Given the description of an element on the screen output the (x, y) to click on. 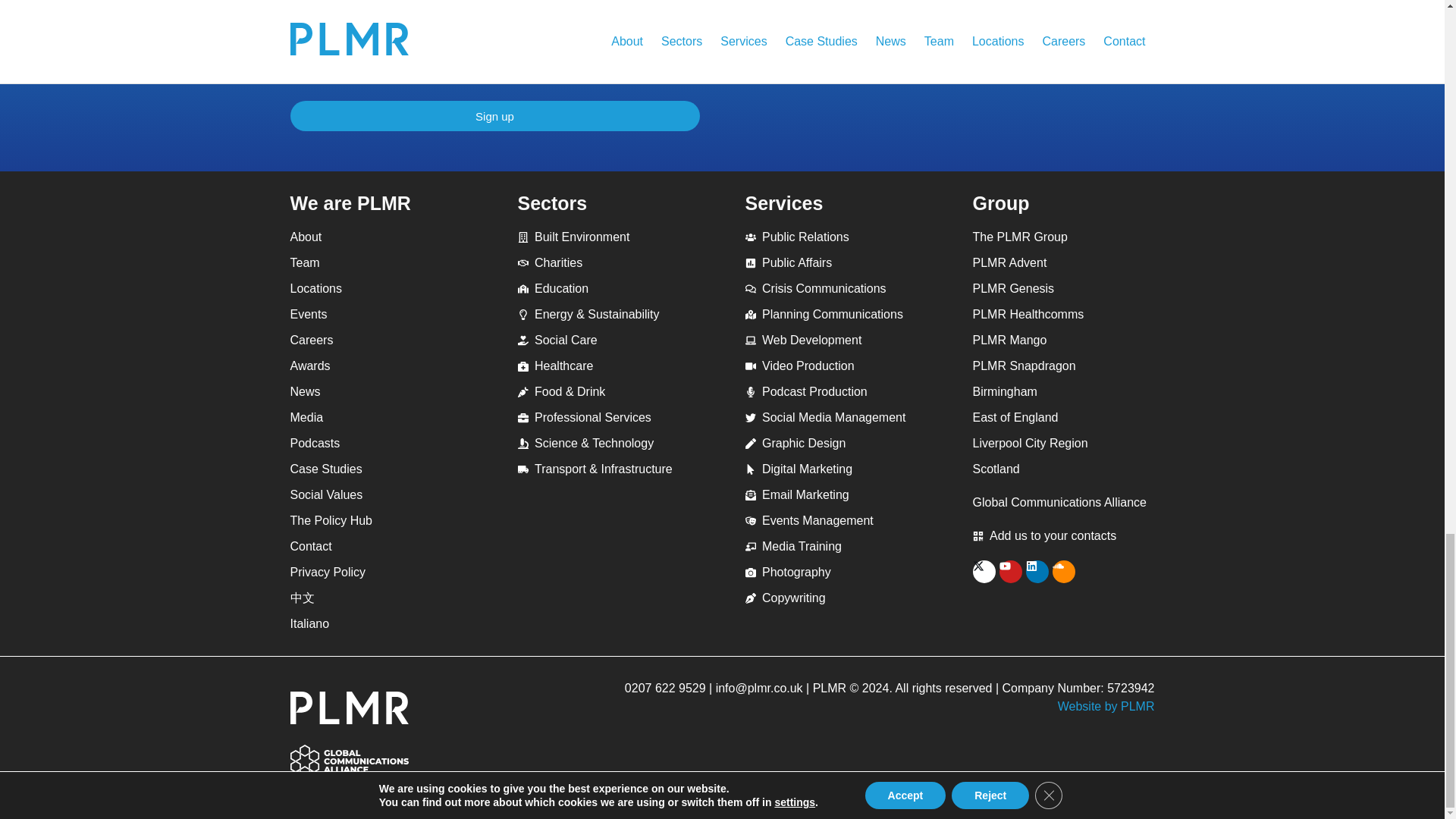
on (294, 56)
